Given the description of an element on the screen output the (x, y) to click on. 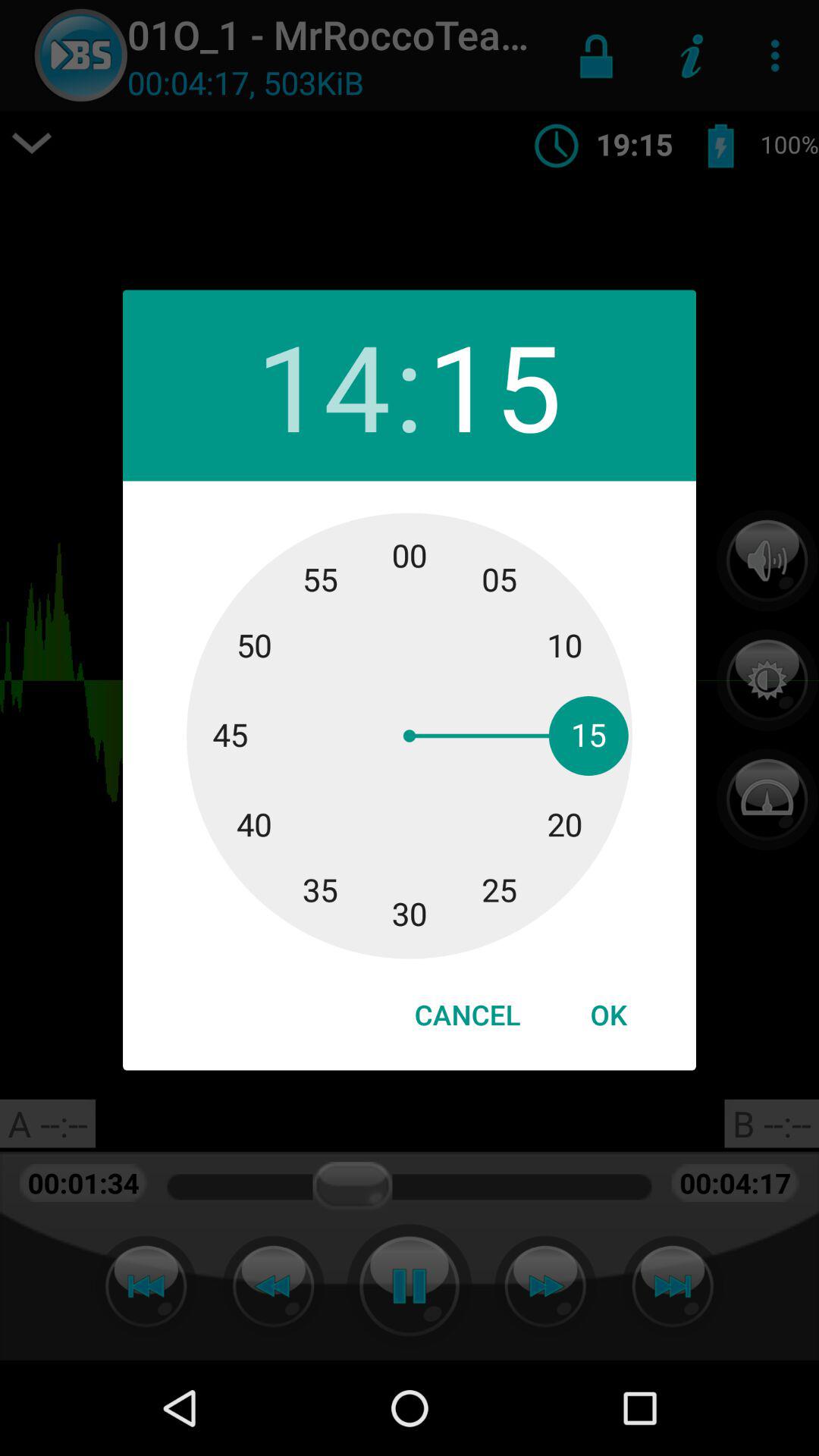
open ok (608, 1014)
